Given the description of an element on the screen output the (x, y) to click on. 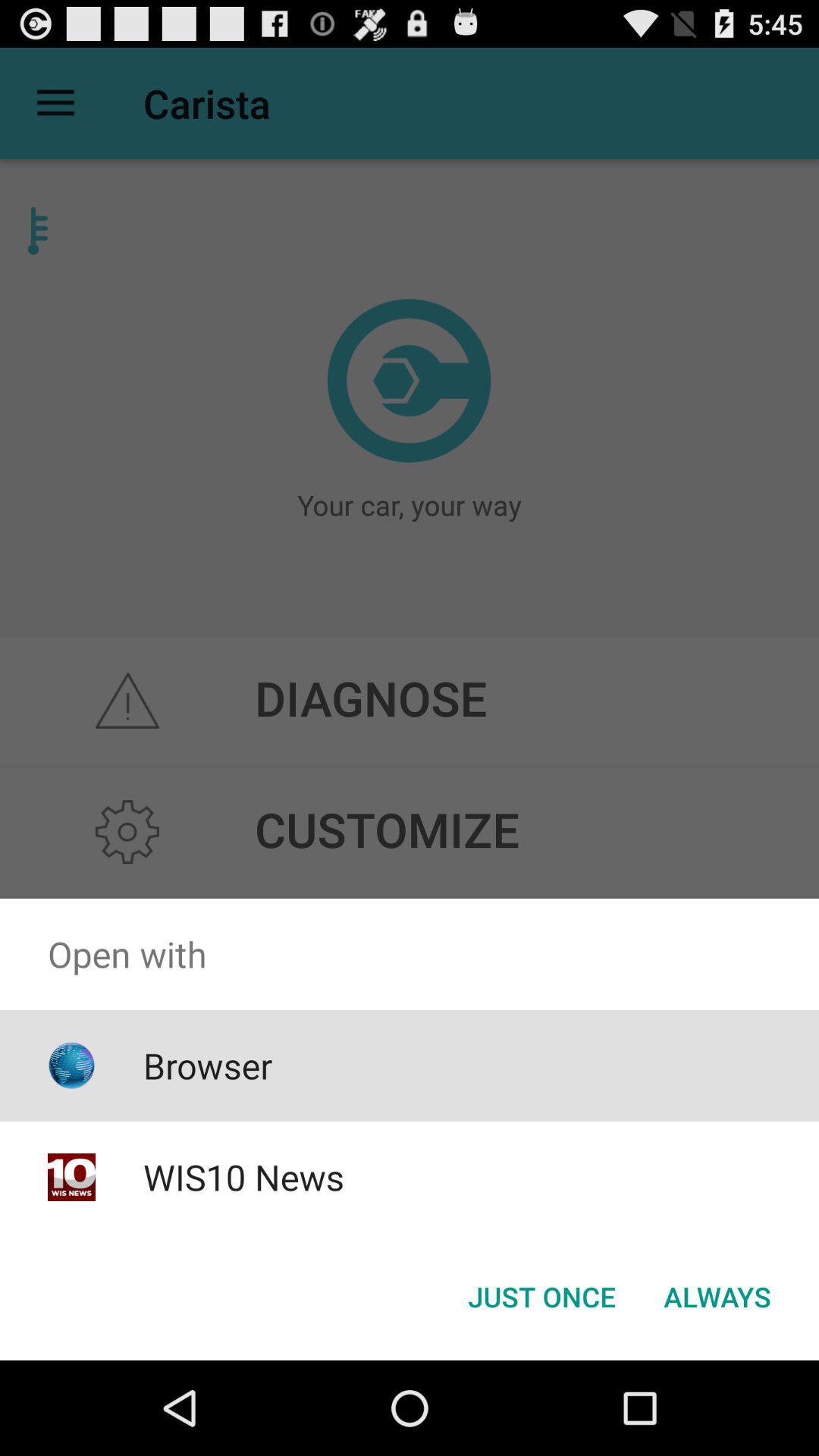
turn on button at the bottom right corner (717, 1296)
